Given the description of an element on the screen output the (x, y) to click on. 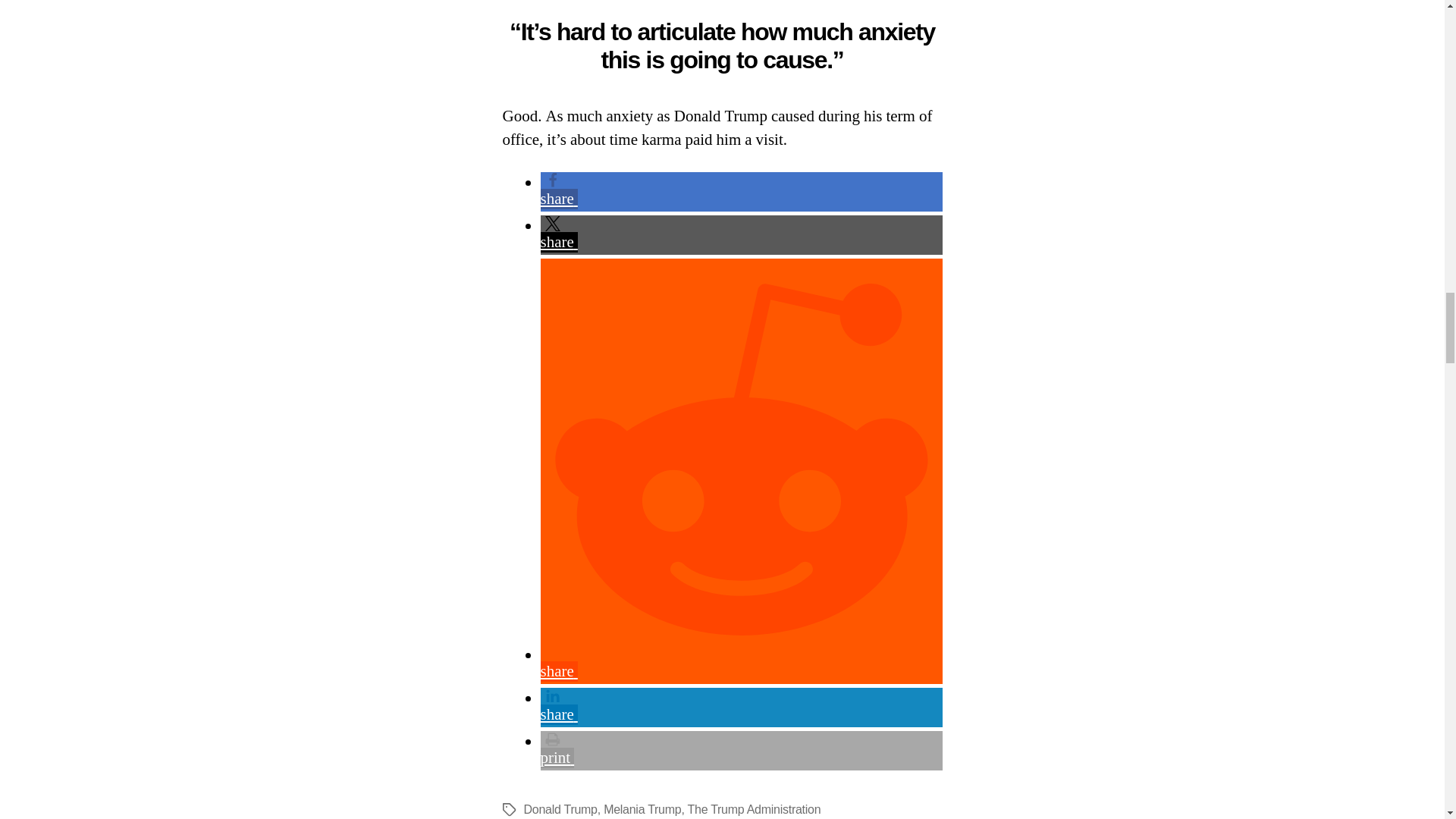
Share on LinkedIn (741, 706)
share  (741, 706)
print  (741, 750)
share  (741, 234)
Donald Trump (559, 809)
share  (741, 190)
Share on X (741, 234)
The Trump Administration (754, 809)
